Given the description of an element on the screen output the (x, y) to click on. 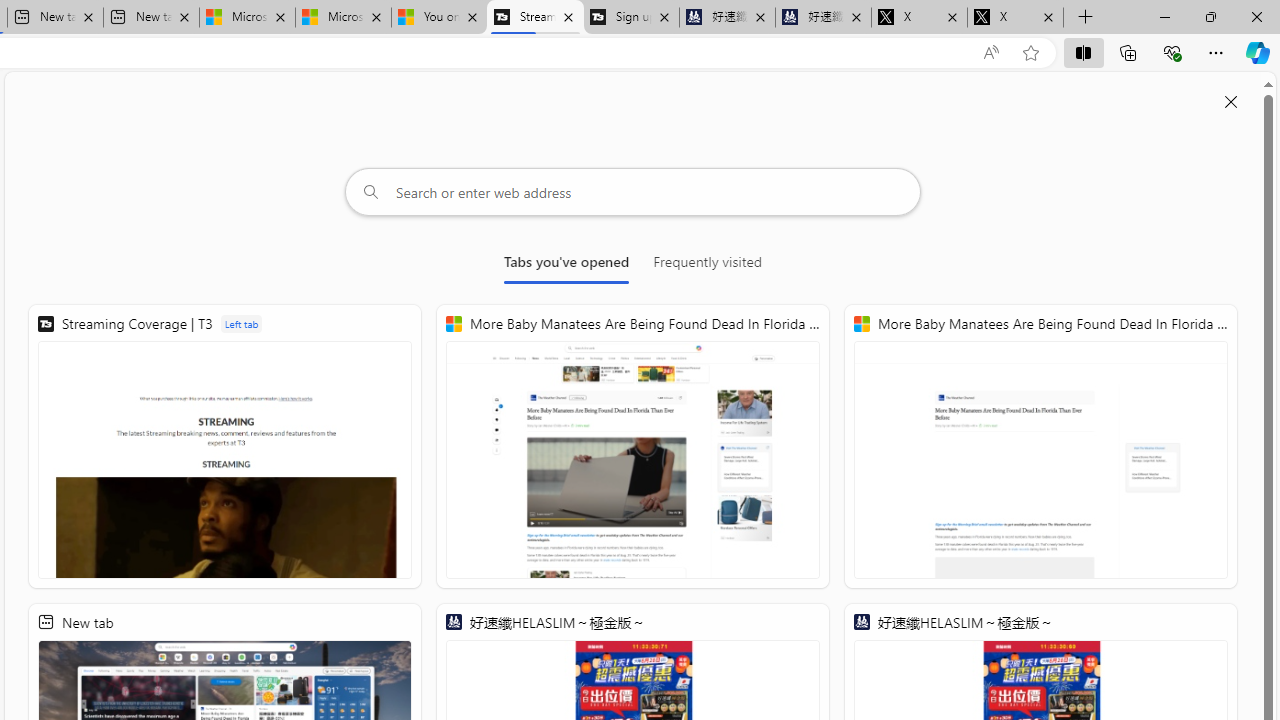
Close split screen (1231, 102)
Tabs you've opened (566, 265)
Frequently visited (707, 265)
